Given the description of an element on the screen output the (x, y) to click on. 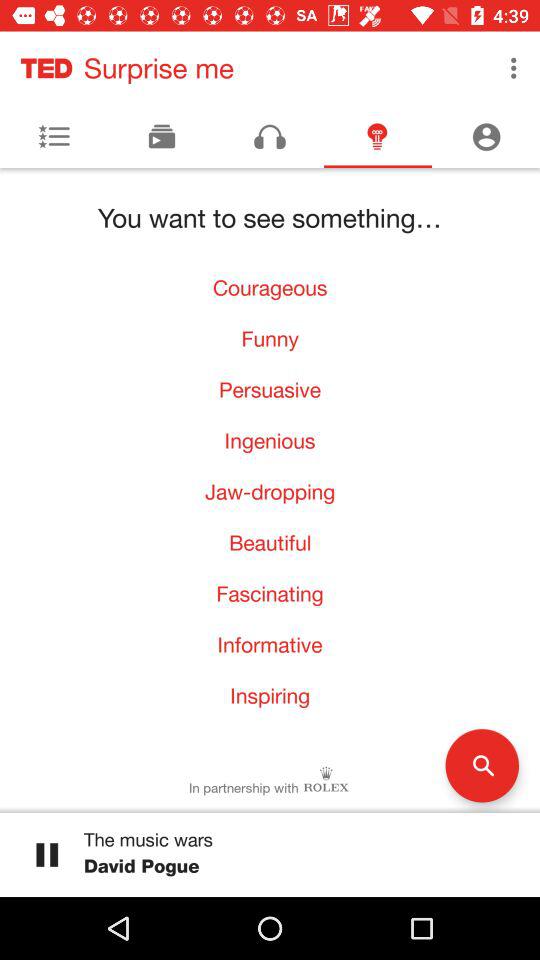
click the jaw-dropping icon (270, 491)
